Given the description of an element on the screen output the (x, y) to click on. 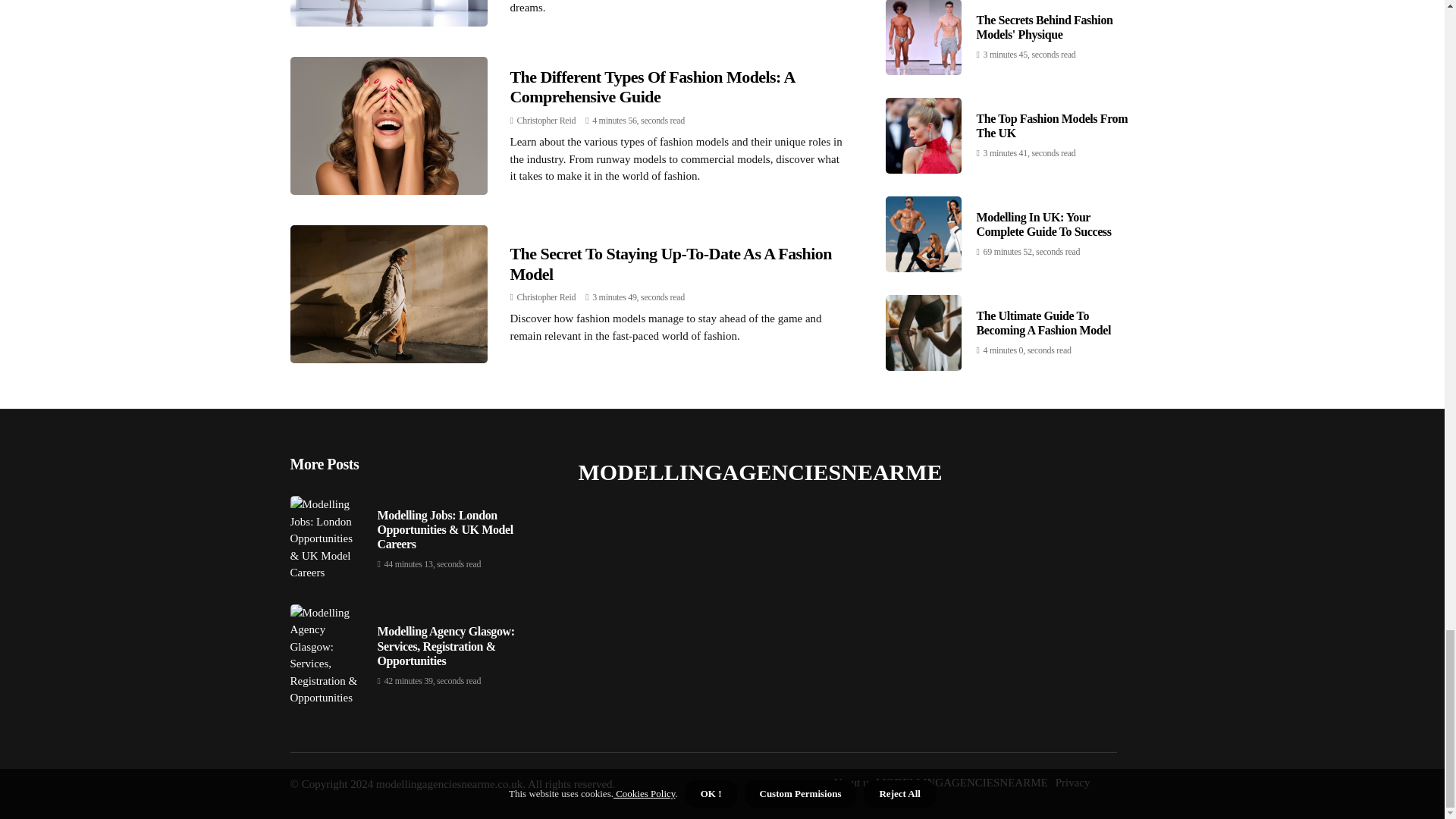
The Secret To Staying Up-To-Date As A Fashion Model (670, 263)
Posts by Christopher Reid (546, 120)
Posts by Christopher Reid (546, 296)
Christopher Reid (546, 120)
Christopher Reid (546, 296)
The Different Types Of Fashion Models: A Comprehensive Guide (651, 86)
